Given the description of an element on the screen output the (x, y) to click on. 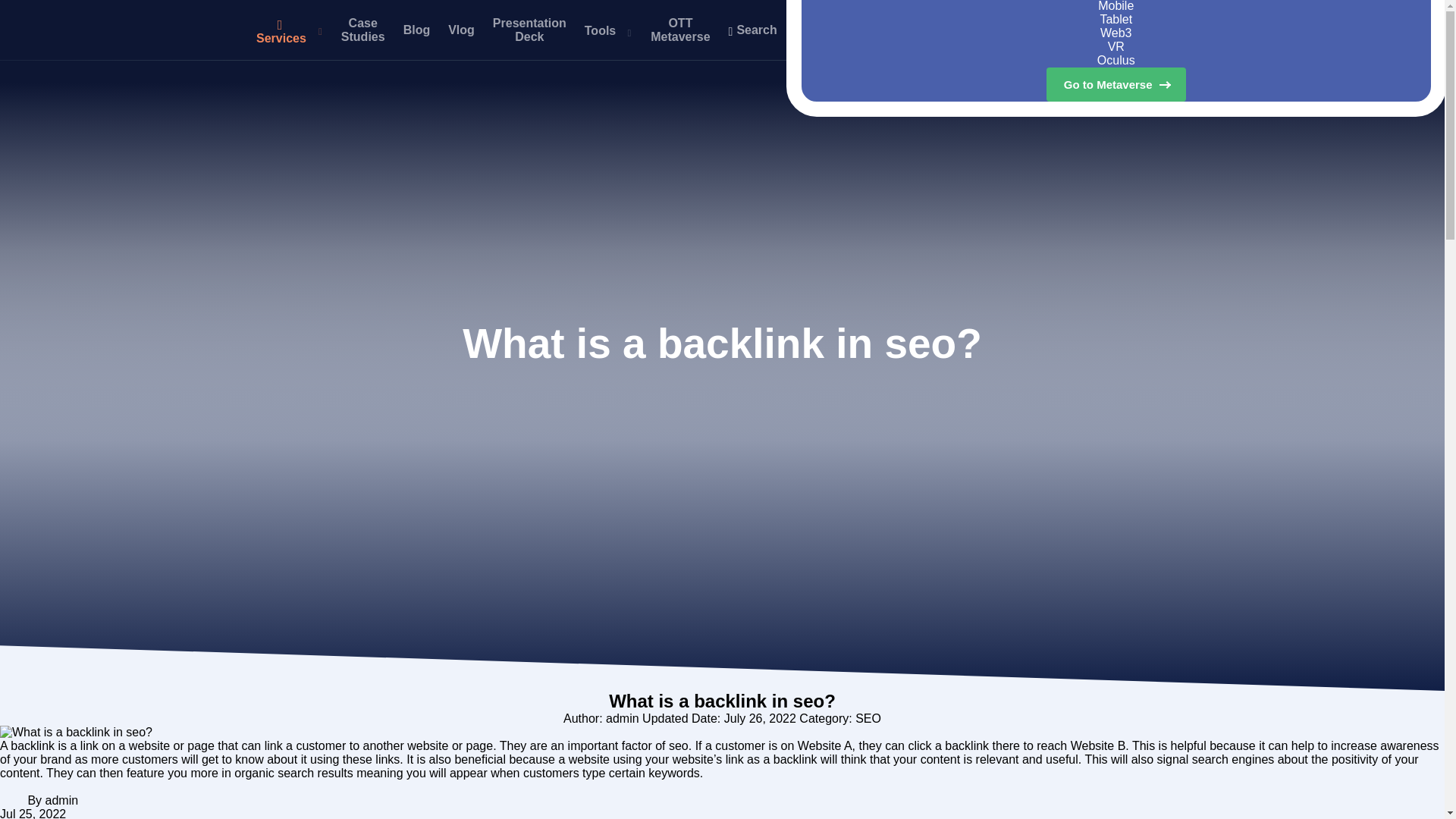
logo (127, 30)
What is a backlink in seo? (76, 732)
